Given the description of an element on the screen output the (x, y) to click on. 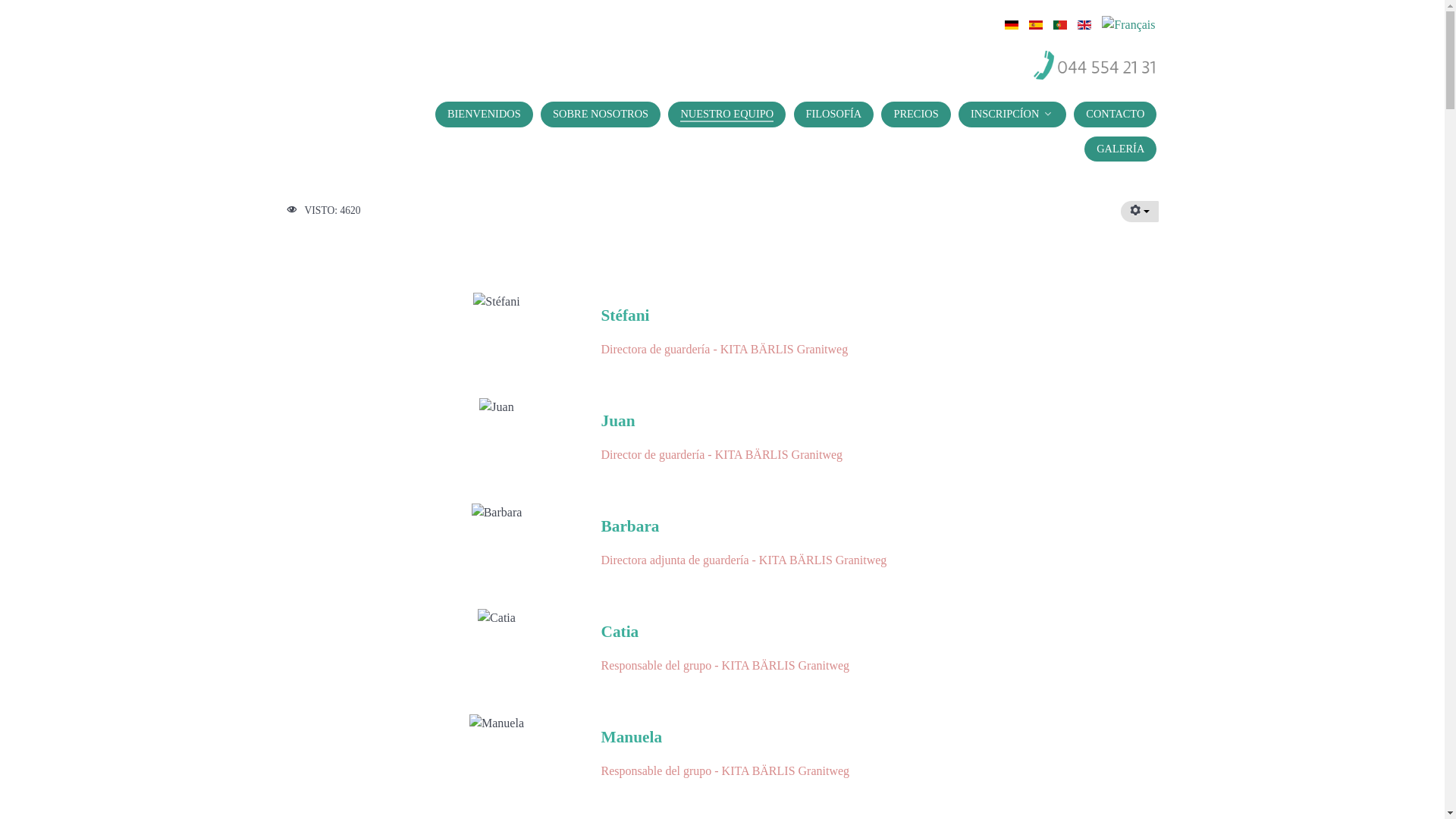
PRECIOS Element type: text (915, 113)
BIENVENIDOS Element type: text (484, 113)
NUESTRO EQUIPO Element type: text (726, 113)
CONTACTO Element type: text (1114, 113)
SOBRE NOSOTROS Element type: text (600, 113)
English Element type: hover (1084, 24)
Deutsch Element type: hover (1011, 24)
